Given the description of an element on the screen output the (x, y) to click on. 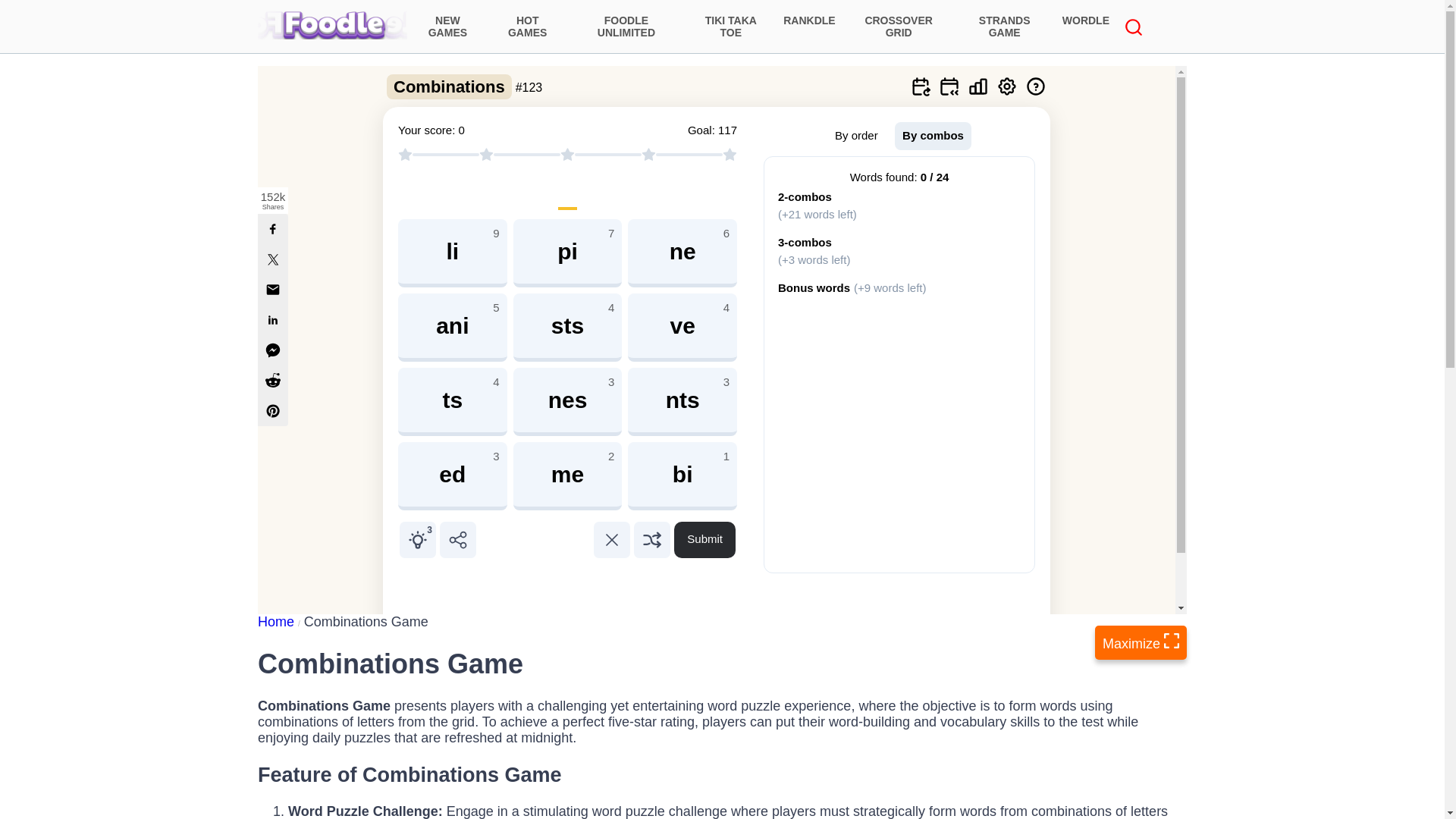
FOODLE UNLIMITED (626, 26)
TIKI TAKA TOE (730, 26)
RANKDLE (809, 26)
Foodle (332, 24)
WORDLE (1085, 26)
Home (280, 621)
NEW GAMES (447, 26)
Play in fullscreen (1140, 642)
STRANDS GAME (1004, 26)
CROSSOVER GRID (899, 26)
HOT GAMES (527, 26)
